Given the description of an element on the screen output the (x, y) to click on. 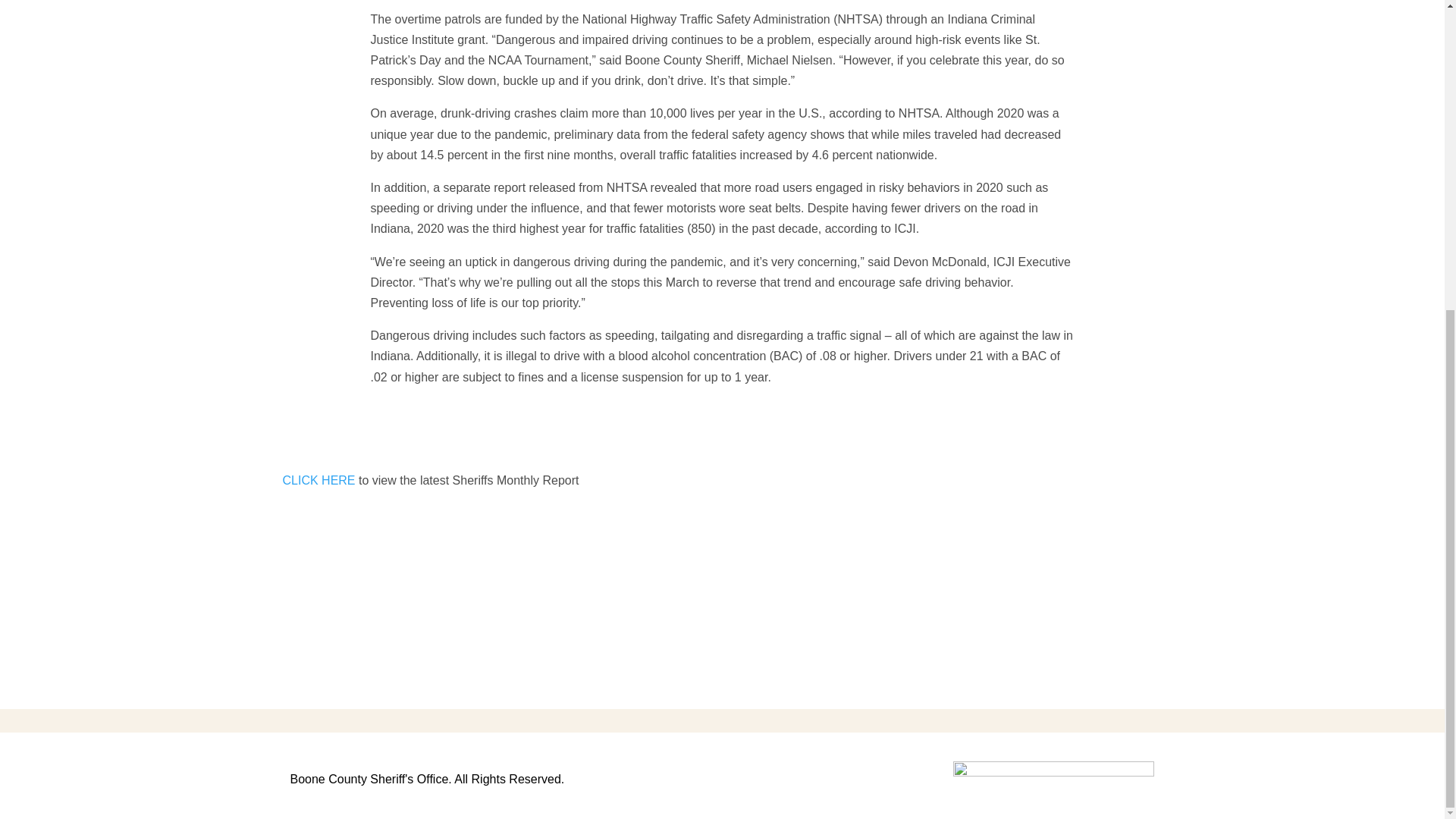
powered-by-guts (1053, 774)
